Given the description of an element on the screen output the (x, y) to click on. 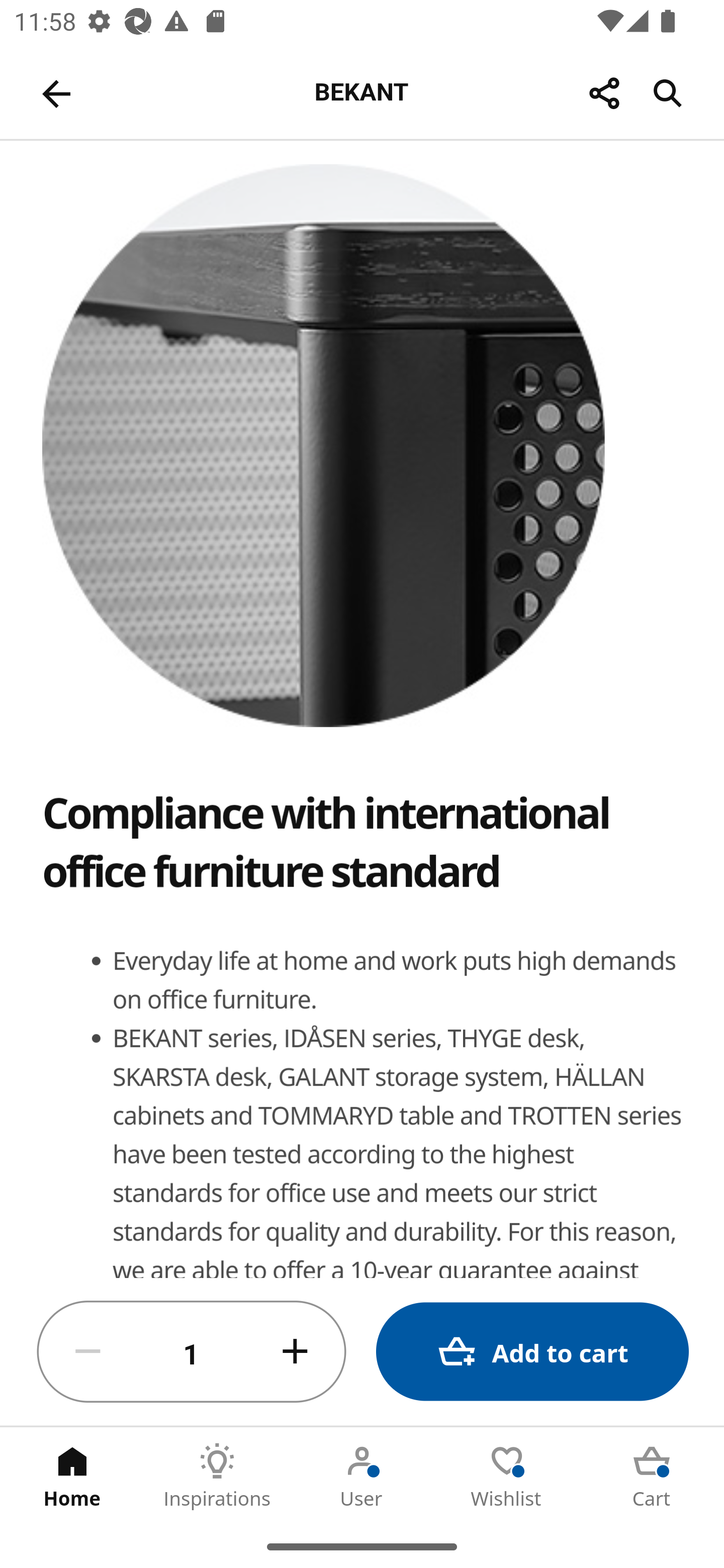
Add to cart (531, 1352)
1 (191, 1352)
Home
Tab 1 of 5 (72, 1476)
Inspirations
Tab 2 of 5 (216, 1476)
User
Tab 3 of 5 (361, 1476)
Wishlist
Tab 4 of 5 (506, 1476)
Cart
Tab 5 of 5 (651, 1476)
